Given the description of an element on the screen output the (x, y) to click on. 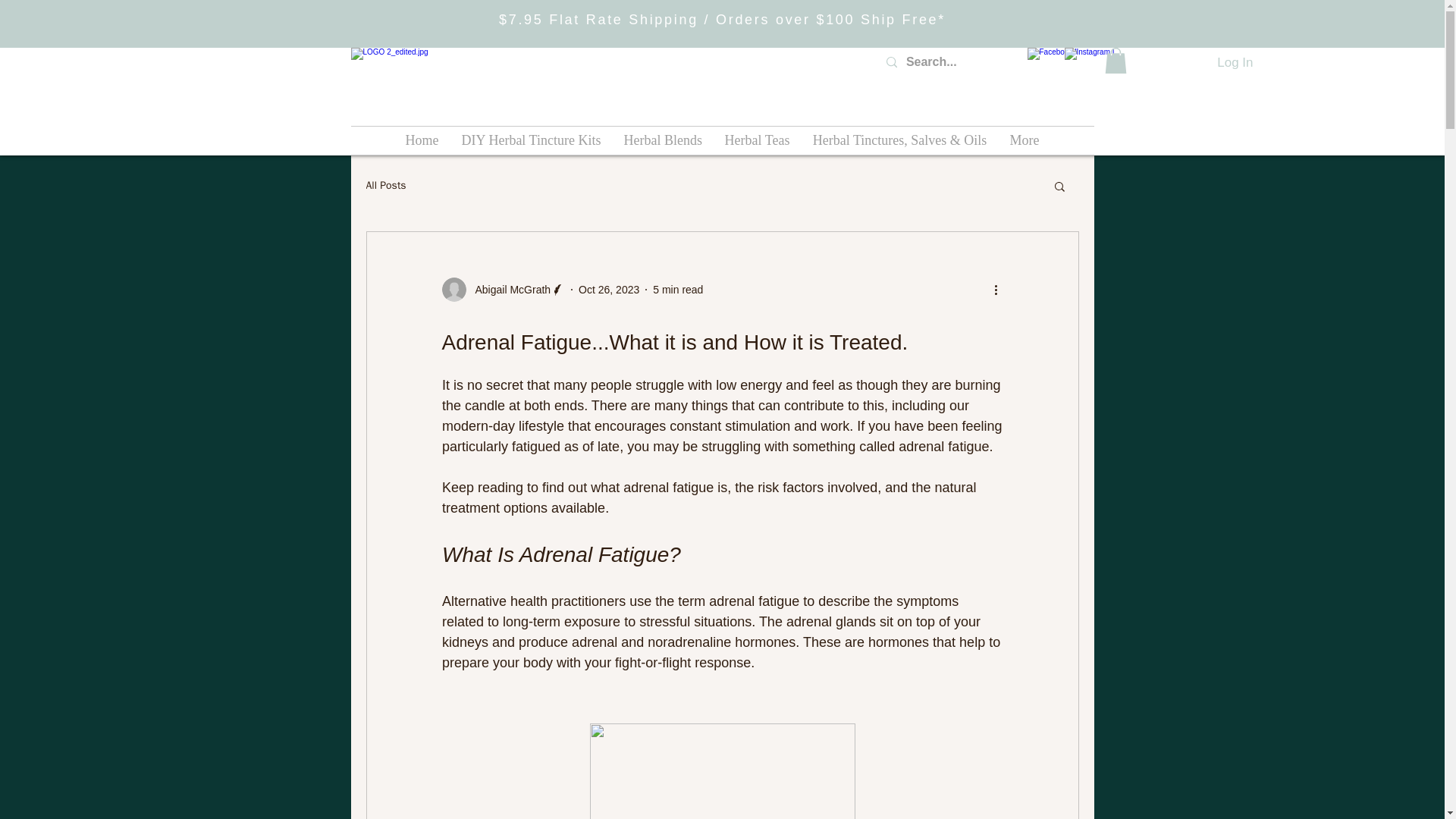
Logo.png (446, 83)
Log In (1235, 62)
Abigail McGrath (507, 289)
5 min read (677, 289)
Home (421, 140)
All Posts (385, 185)
Herbal Teas (756, 140)
Abigail McGrath (502, 289)
Herbal Blends (662, 140)
Oct 26, 2023 (608, 289)
